Given the description of an element on the screen output the (x, y) to click on. 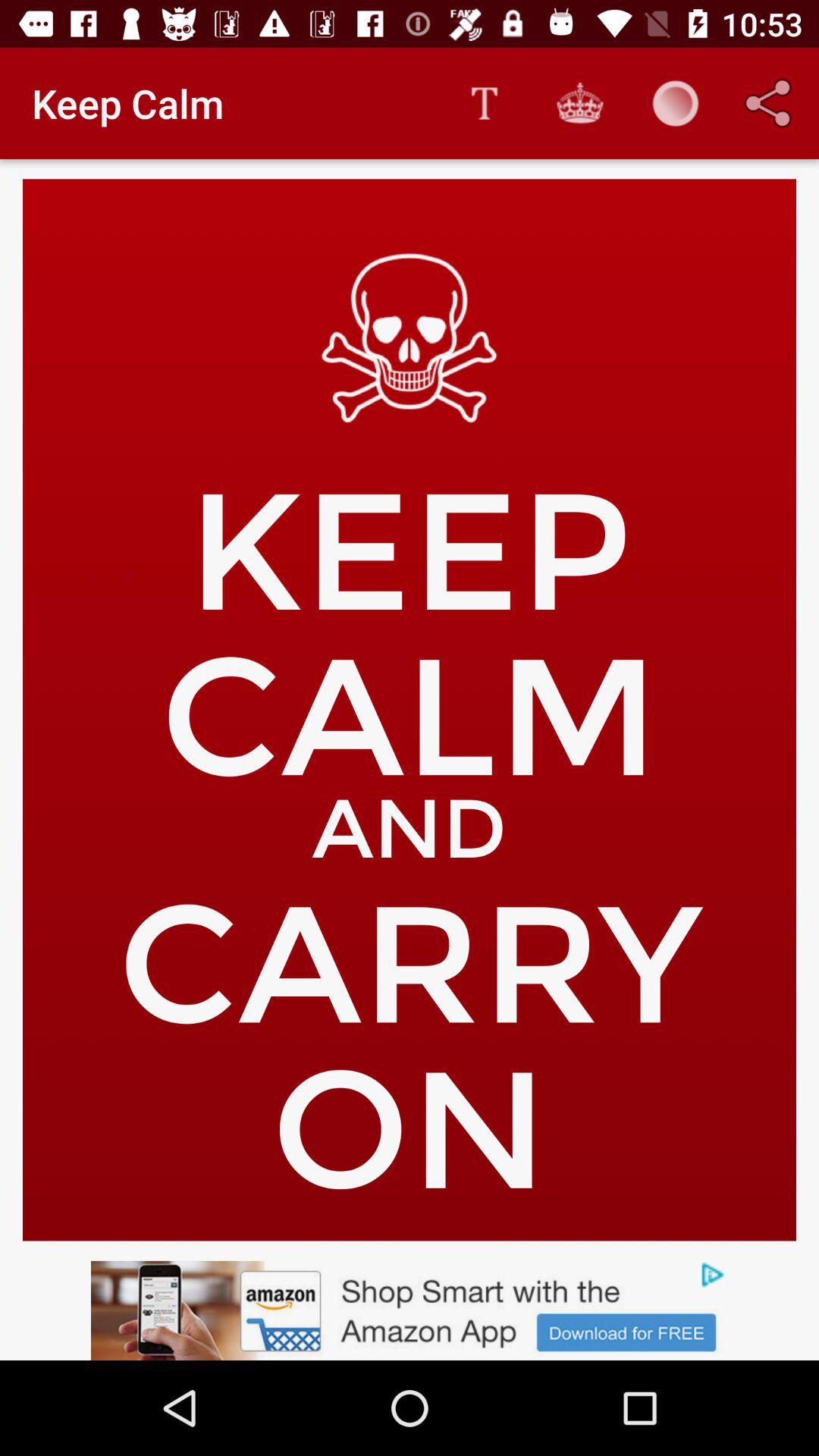
view advertisement (409, 1310)
